Given the description of an element on the screen output the (x, y) to click on. 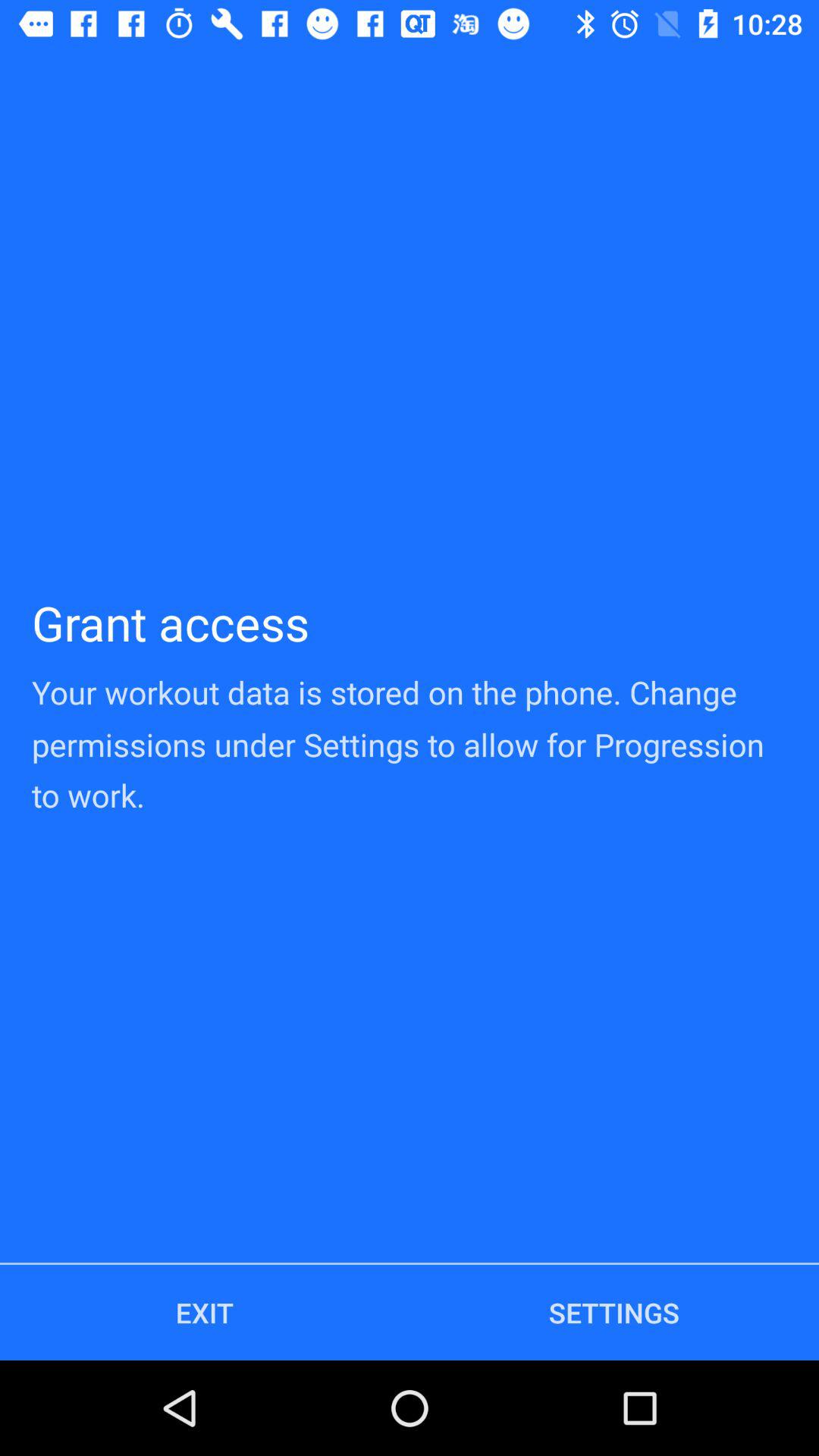
jump to the exit (204, 1312)
